Given the description of an element on the screen output the (x, y) to click on. 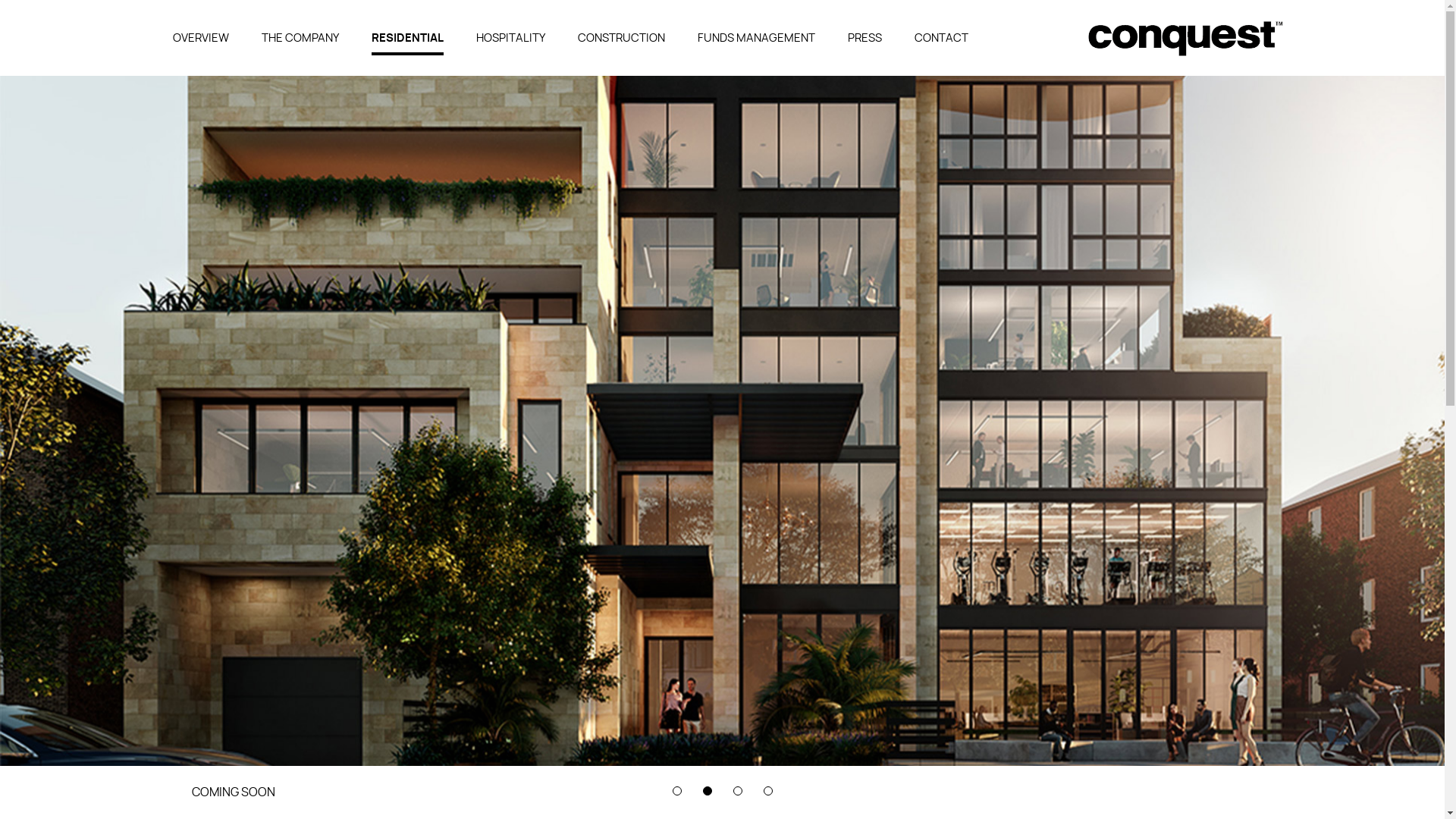
CONSTRUCTION Element type: text (621, 38)
HOSPITALITY Element type: text (510, 38)
Soho, Burwood - Conquest Element type: hover (1184, 39)
RESIDENTIAL Element type: text (407, 38)
THE COMPANY Element type: text (299, 38)
FUNDS MANAGEMENT Element type: text (756, 38)
PRESS Element type: text (864, 38)
OVERVIEW Element type: text (200, 38)
CONTACT Element type: text (941, 38)
